Given the description of an element on the screen output the (x, y) to click on. 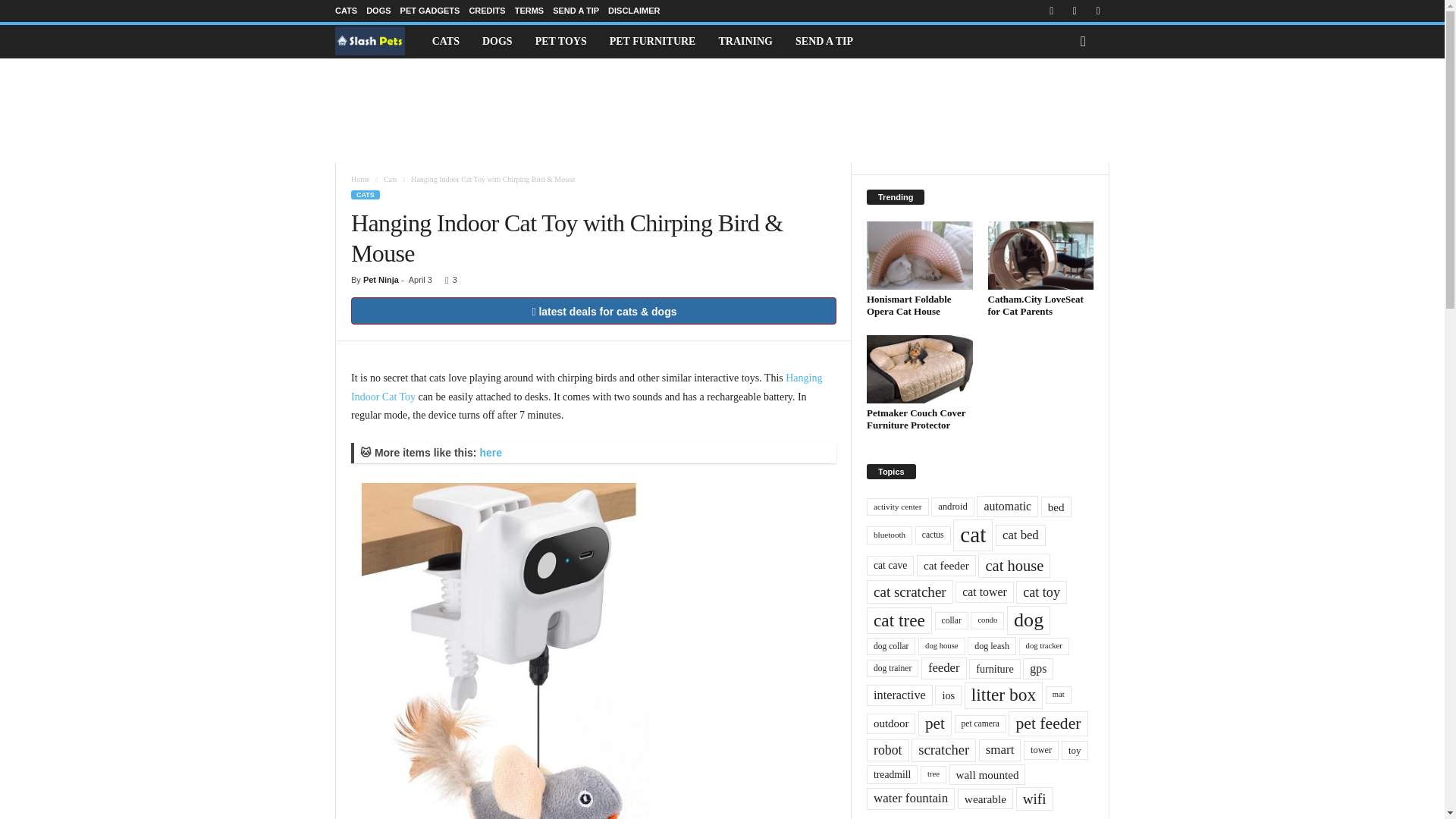
DISCLAIMER (633, 10)
CATS (345, 10)
CREDITS (486, 10)
CATS (445, 41)
PET GADGETS (430, 10)
TERMS (529, 10)
Slash Pets (377, 41)
DOGS (378, 10)
SEND A TIP (575, 10)
